Given the description of an element on the screen output the (x, y) to click on. 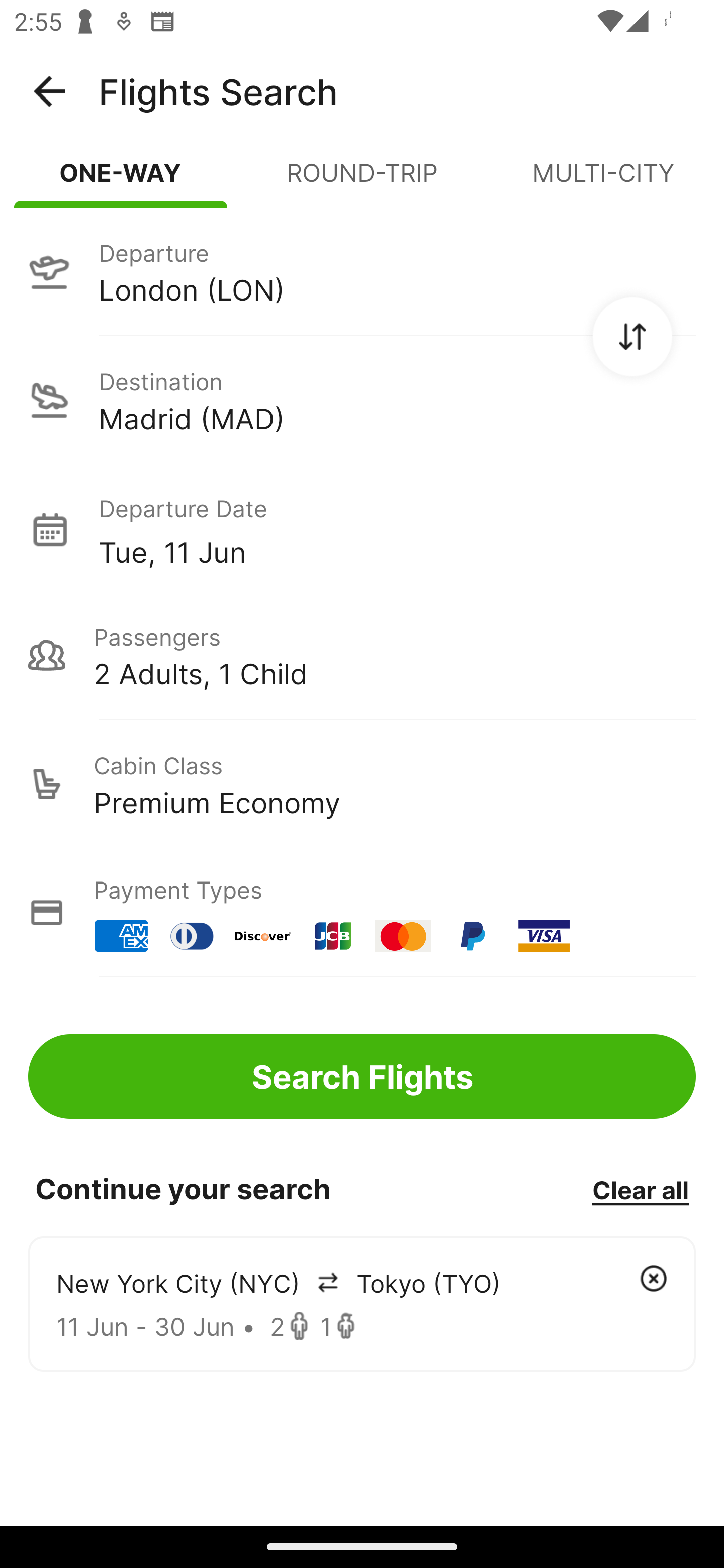
ONE-WAY (120, 180)
ROUND-TRIP (361, 180)
MULTI-CITY (603, 180)
Departure London (LON) (362, 270)
Destination Madrid (MAD) (362, 400)
Departure Date Tue, 11 Jun (396, 528)
Passengers 2 Adults, 1 Child (362, 655)
Cabin Class Premium Economy (362, 783)
Payment Types (362, 912)
Search Flights (361, 1075)
Clear all (640, 1189)
